Given the description of an element on the screen output the (x, y) to click on. 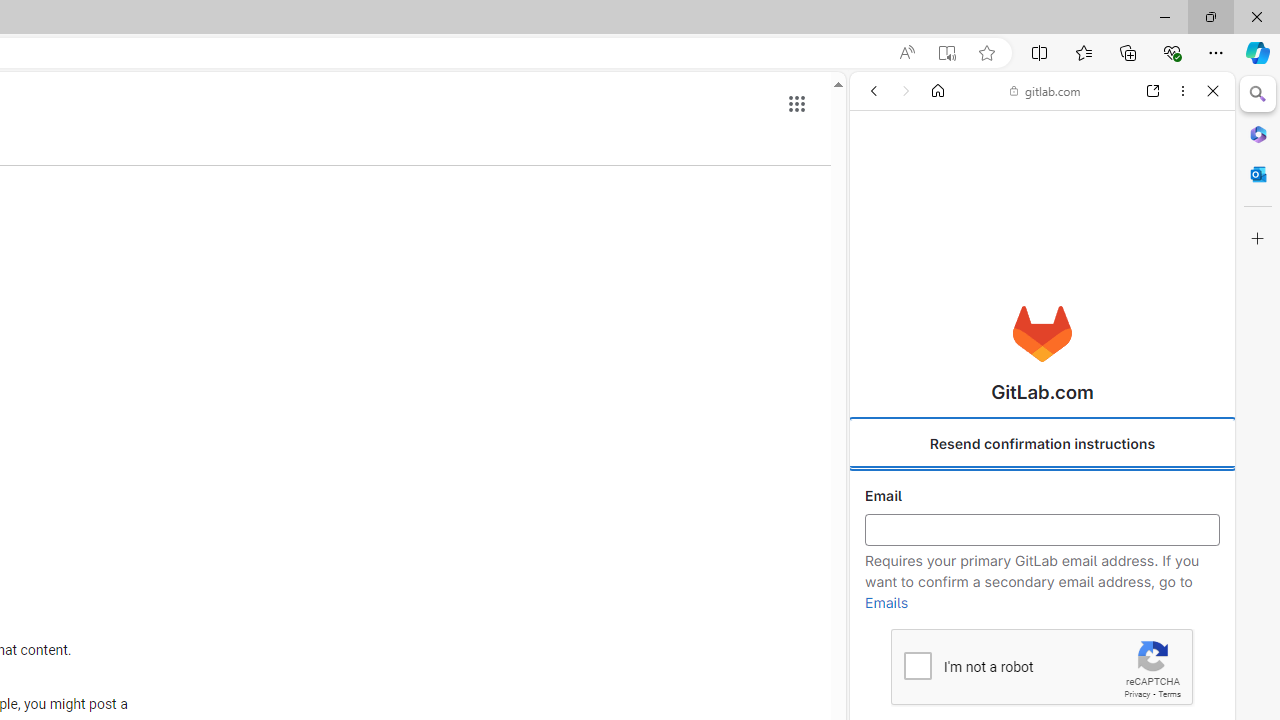
Dashboard (1042, 641)
GitLab.com (1042, 333)
Emails (886, 603)
Register Now (1042, 445)
Login (1042, 494)
Confirmation Page (1042, 684)
